Given the description of an element on the screen output the (x, y) to click on. 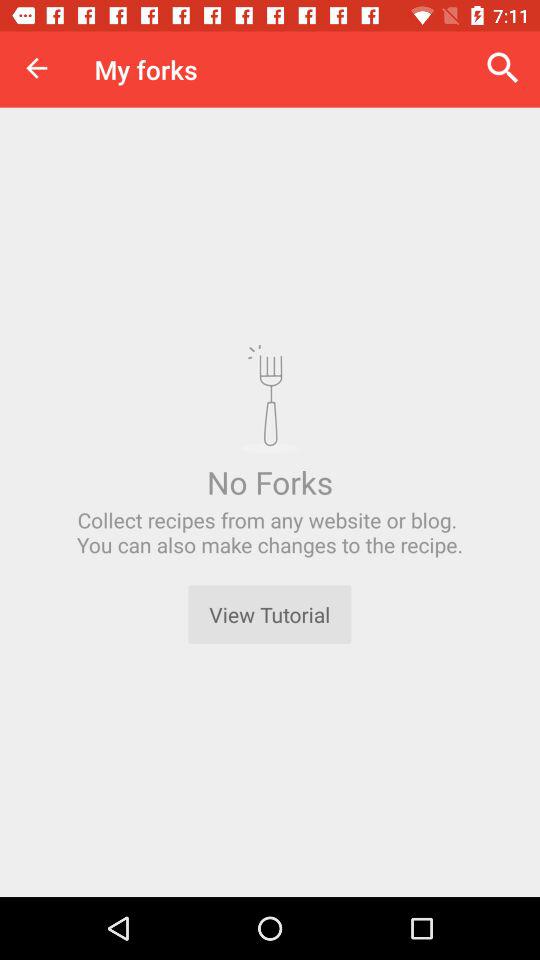
select item next to the my forks (503, 67)
